Given the description of an element on the screen output the (x, y) to click on. 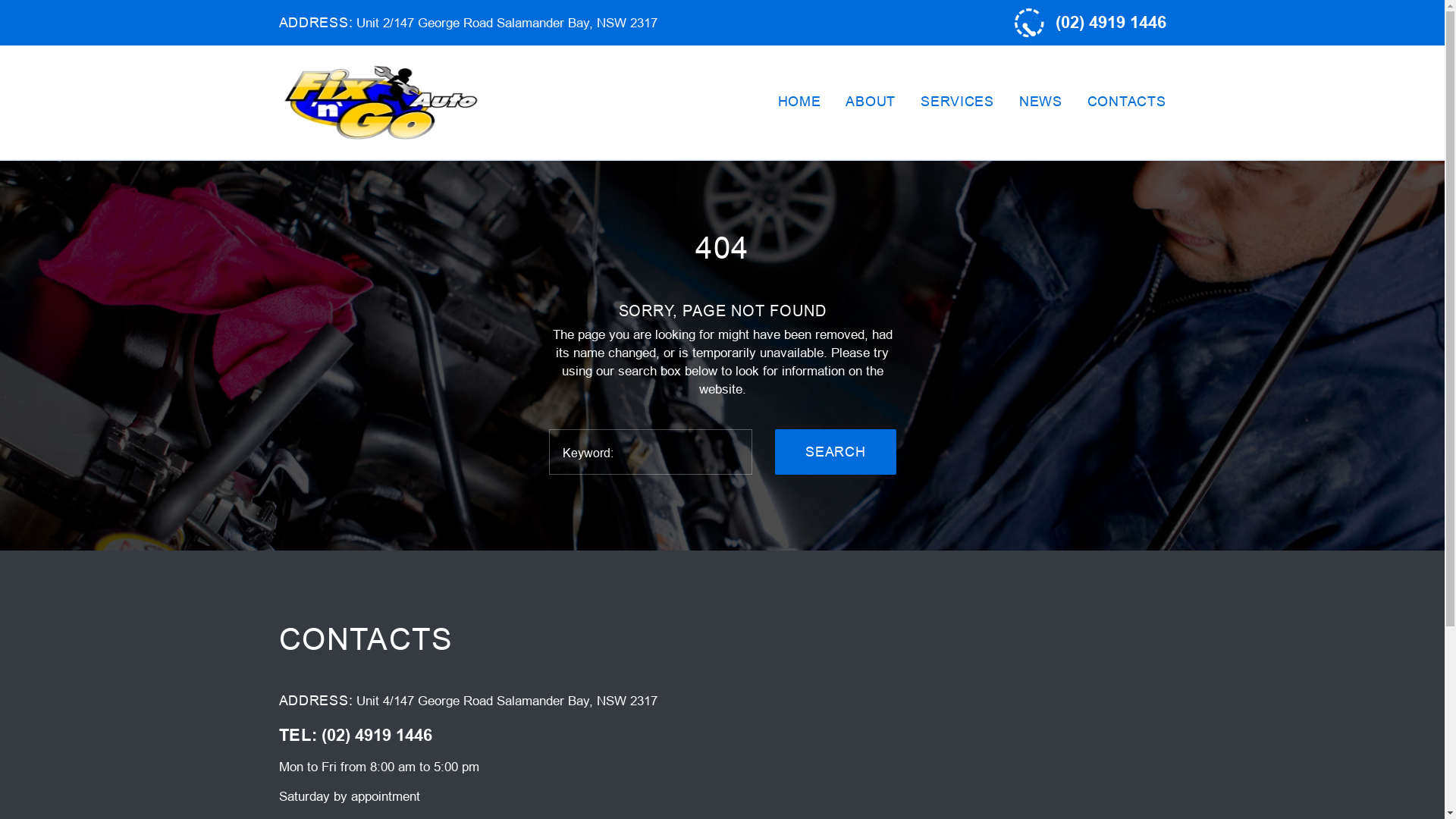
NEWS Element type: text (1040, 101)
HOME Element type: text (799, 101)
SEARCH Element type: text (835, 451)
CONTACTS Element type: text (1126, 101)
ABOUT Element type: text (870, 101)
(02) 4919 1446 Element type: text (1110, 22)
SERVICES Element type: text (957, 101)
(02) 4919 1446 Element type: text (376, 734)
